Given the description of an element on the screen output the (x, y) to click on. 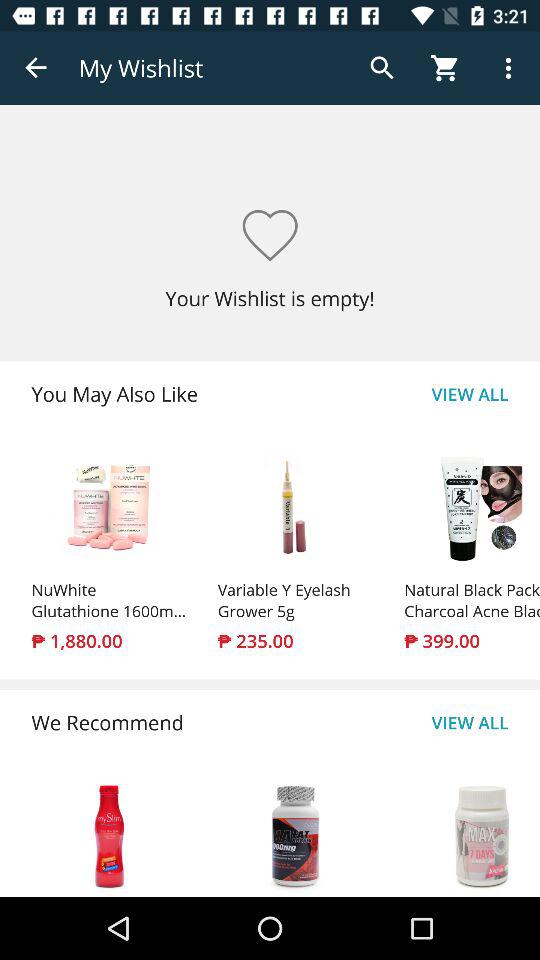
go to previous (36, 68)
